Given the description of an element on the screen output the (x, y) to click on. 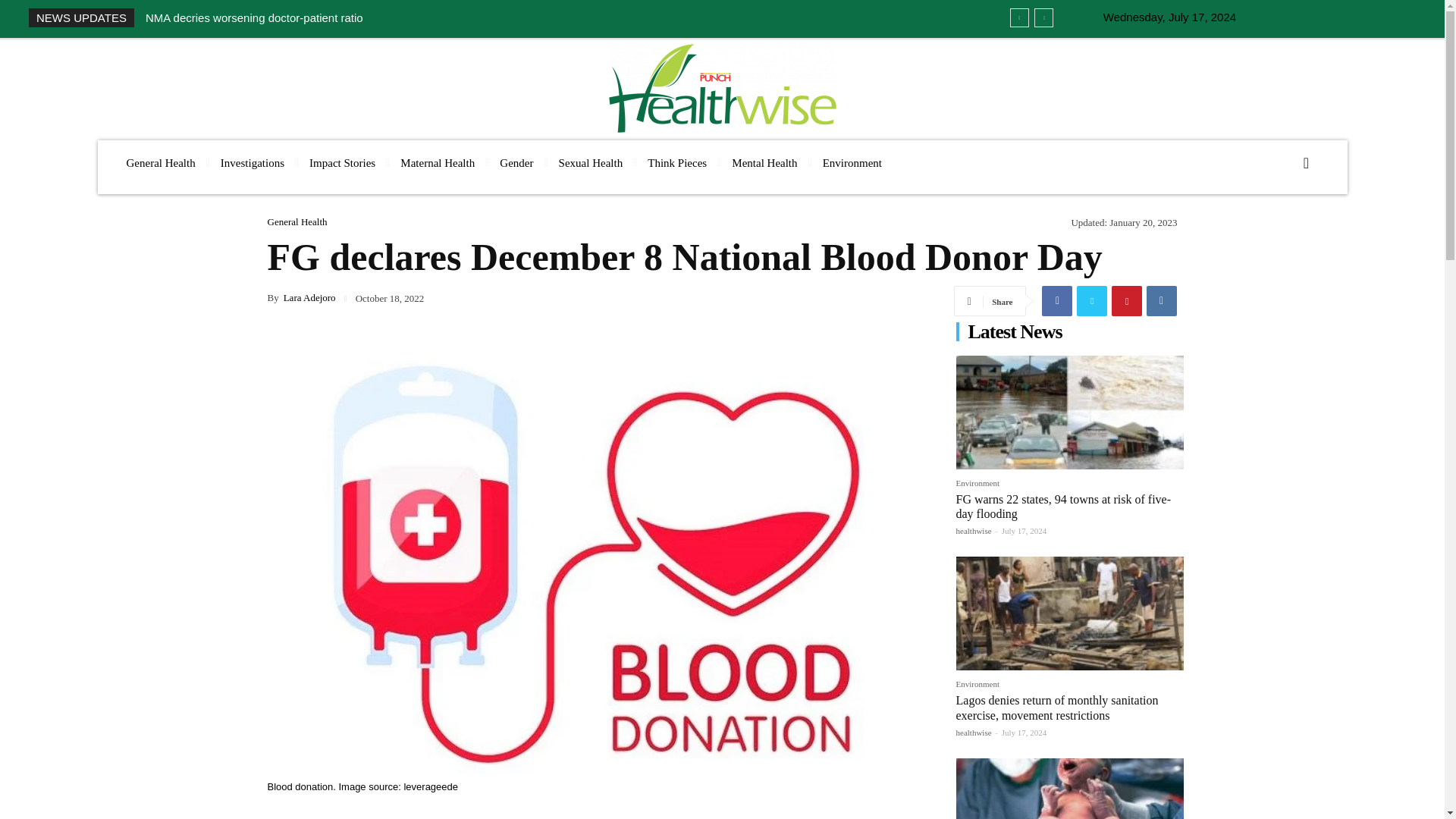
Investigations (252, 163)
NMA decries worsening doctor-patient ratio (253, 17)
NMA decries worsening doctor-patient ratio (253, 17)
General Health (160, 163)
